Given the description of an element on the screen output the (x, y) to click on. 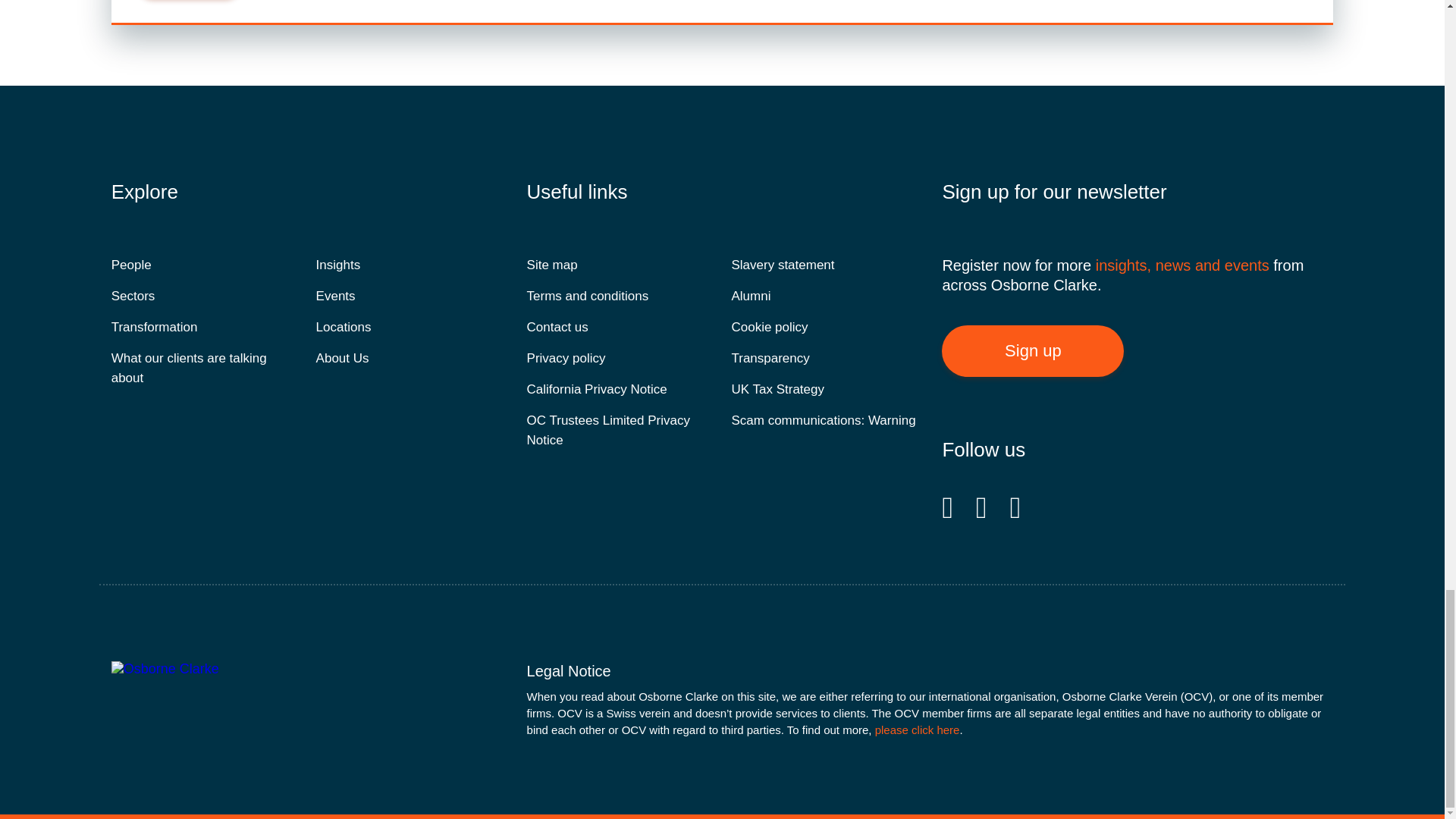
Osborne Clarke (202, 668)
